Given the description of an element on the screen output the (x, y) to click on. 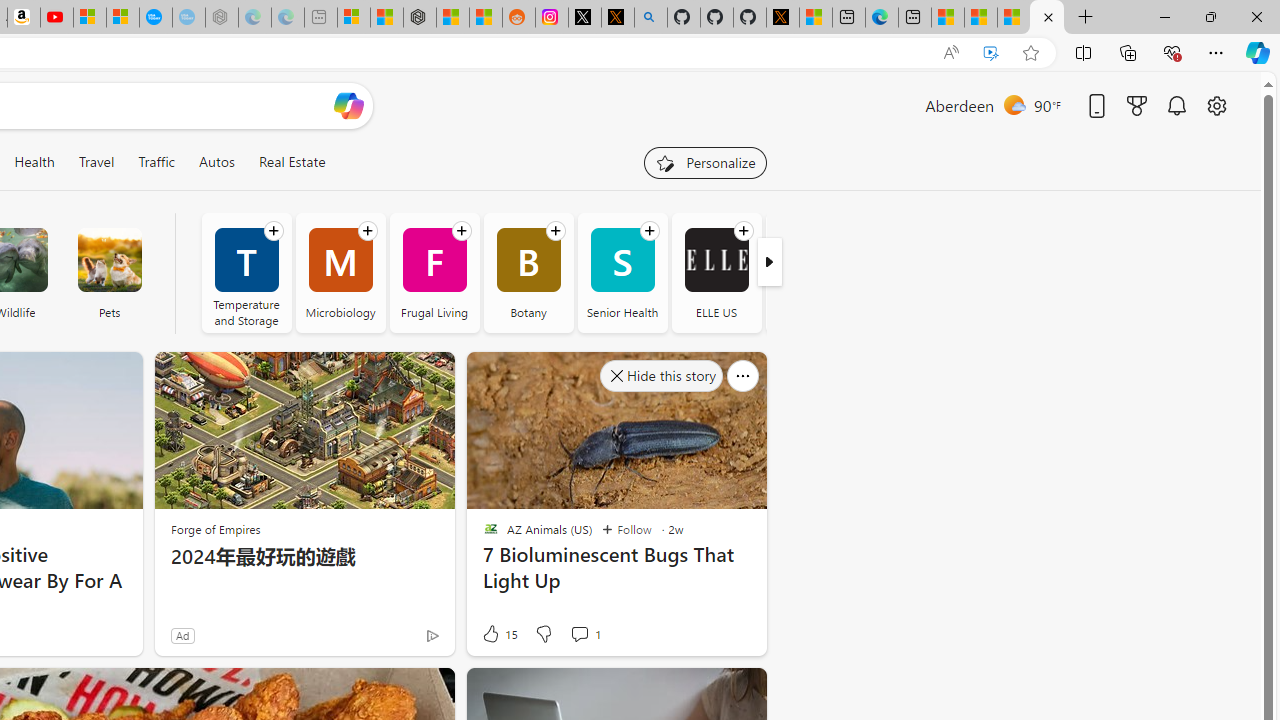
Microsoft rewards (1137, 105)
Forge of Empires (215, 529)
Travel (95, 161)
View comments 1 Comment (579, 633)
Frugal Living (434, 272)
Enhance video (991, 53)
Botany (527, 272)
Day 1: Arriving in Yemen (surreal to be here) - YouTube (56, 17)
Traffic (156, 162)
